Given the description of an element on the screen output the (x, y) to click on. 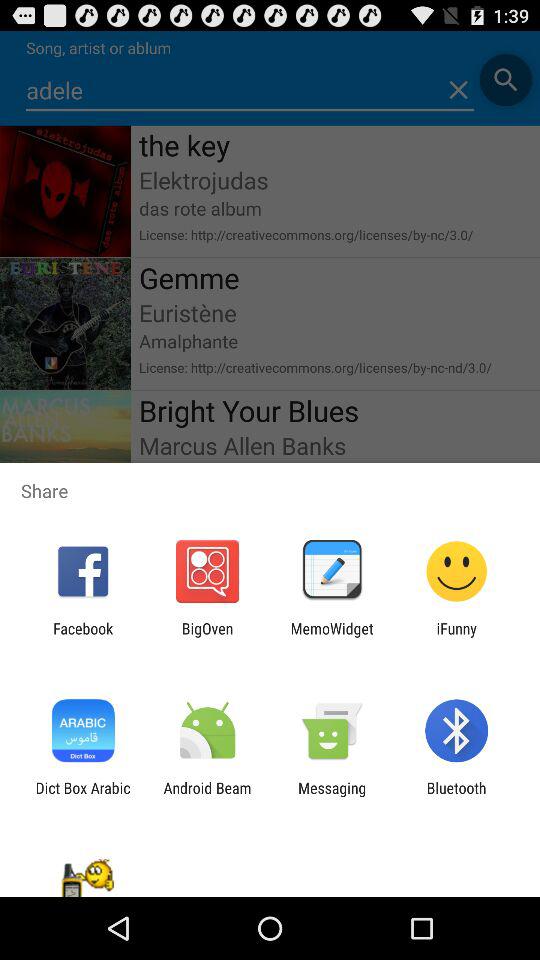
jump to the bluetooth item (456, 796)
